Given the description of an element on the screen output the (x, y) to click on. 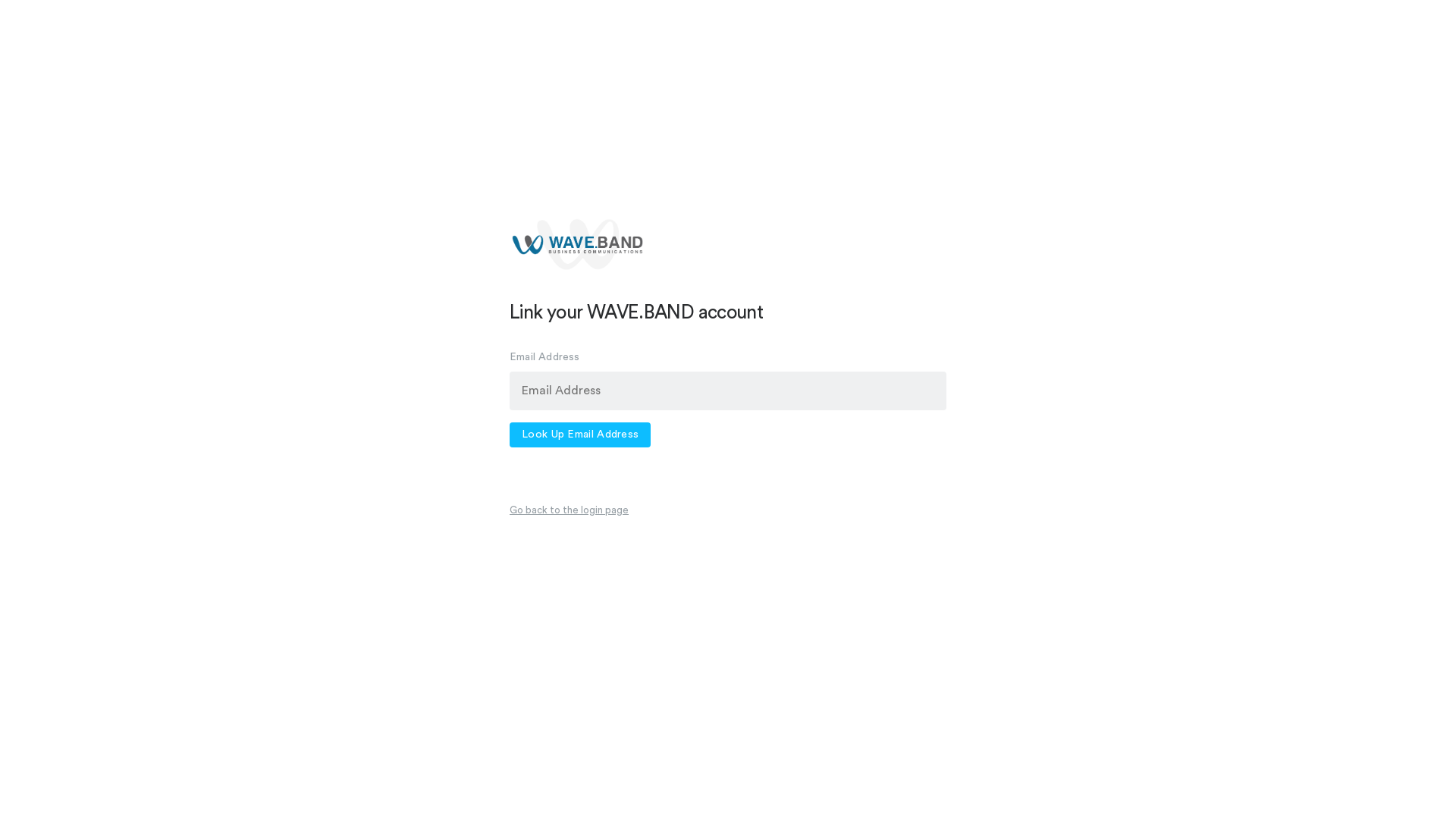
Look Up Email Address Element type: text (579, 434)
Go back to the login page Element type: text (568, 509)
